Given the description of an element on the screen output the (x, y) to click on. 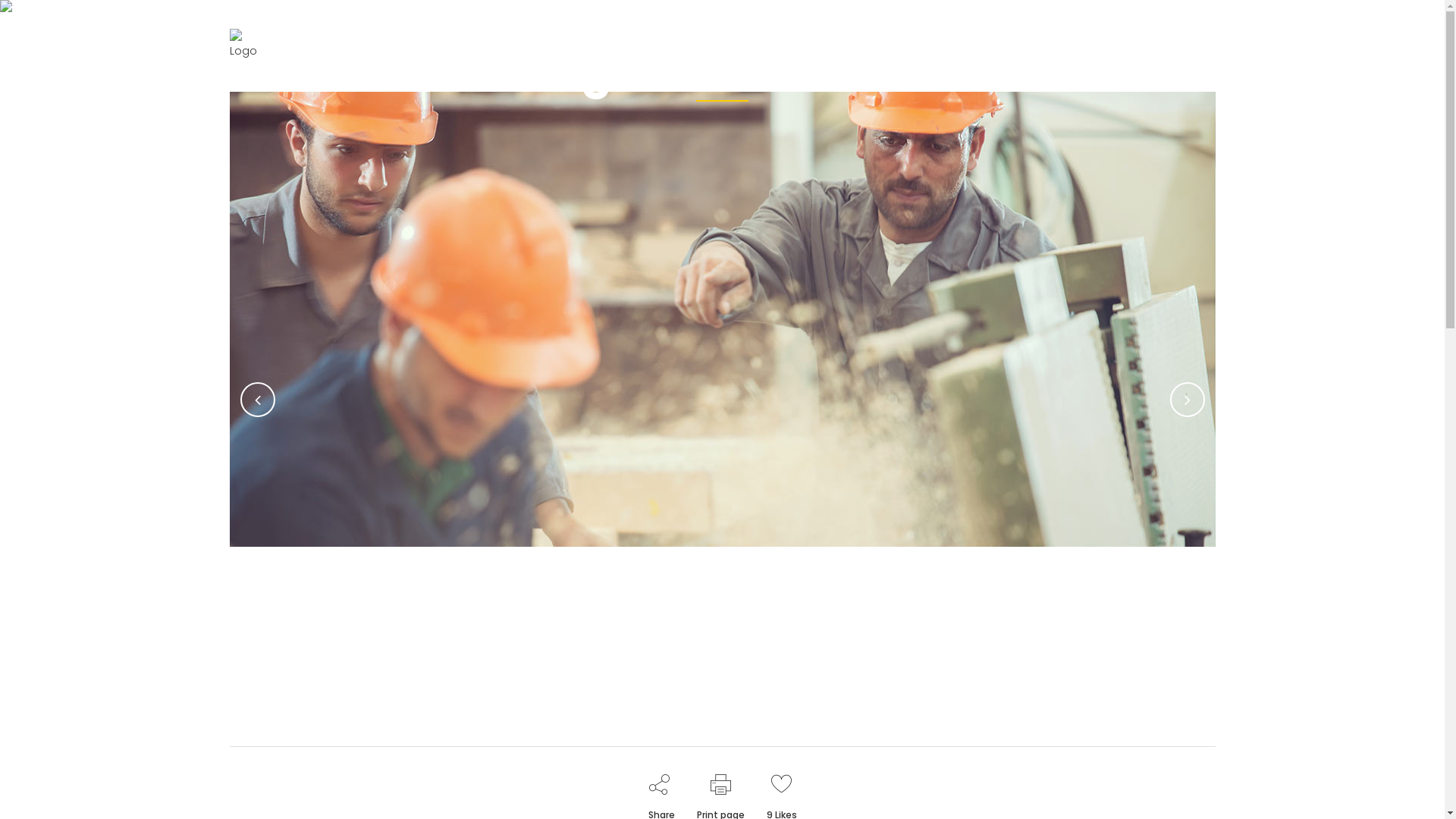
CONTACT Element type: text (1076, 51)
ACCUEIL Element type: text (635, 51)
SERVICES Element type: text (853, 51)
QUI SOMMES NOUS Element type: text (742, 51)
